Given the description of an element on the screen output the (x, y) to click on. 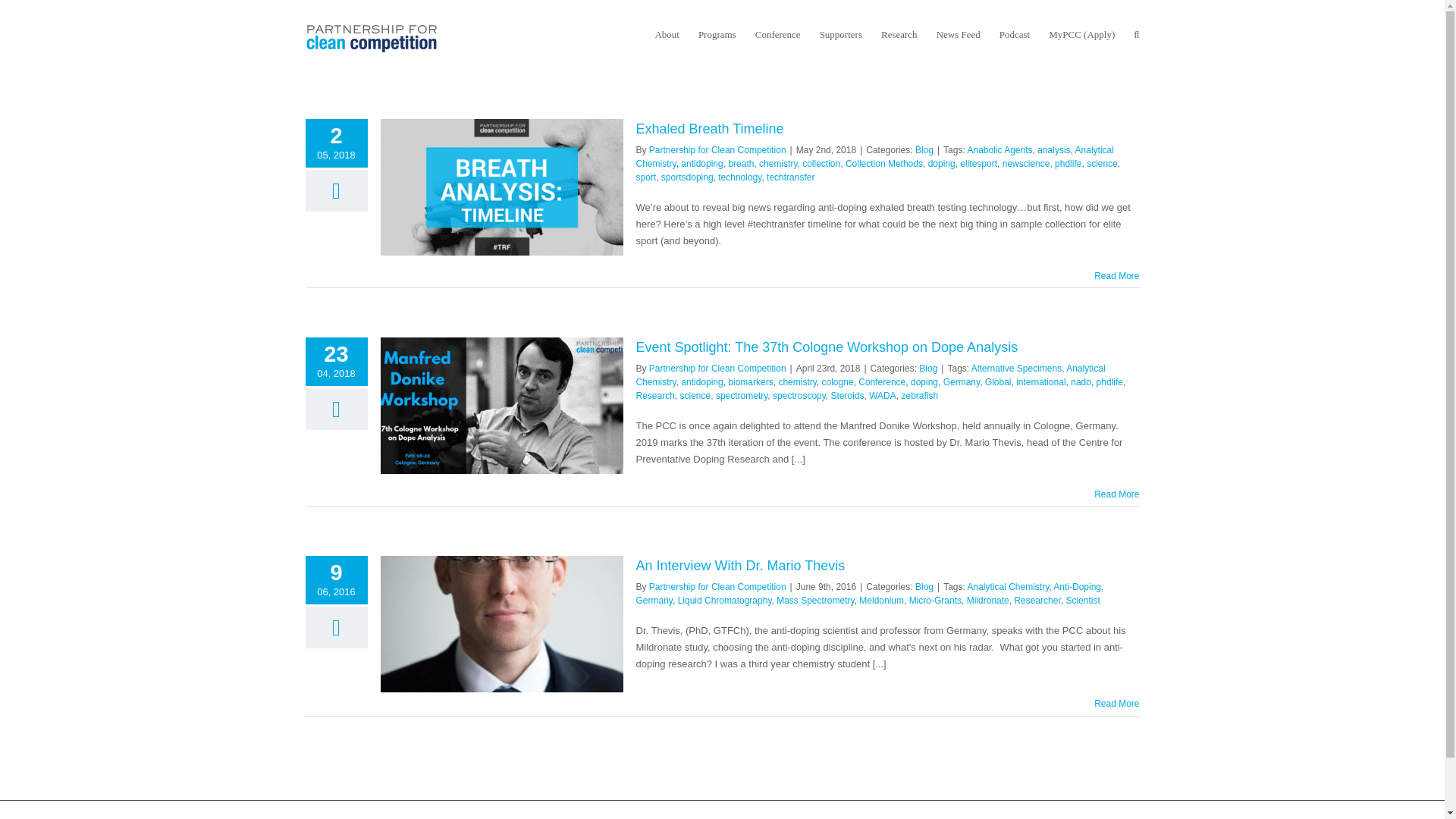
Posts by Partnership for Clean Competition (717, 586)
Posts by Partnership for Clean Competition (717, 149)
Posts by Partnership for Clean Competition (717, 368)
